Given the description of an element on the screen output the (x, y) to click on. 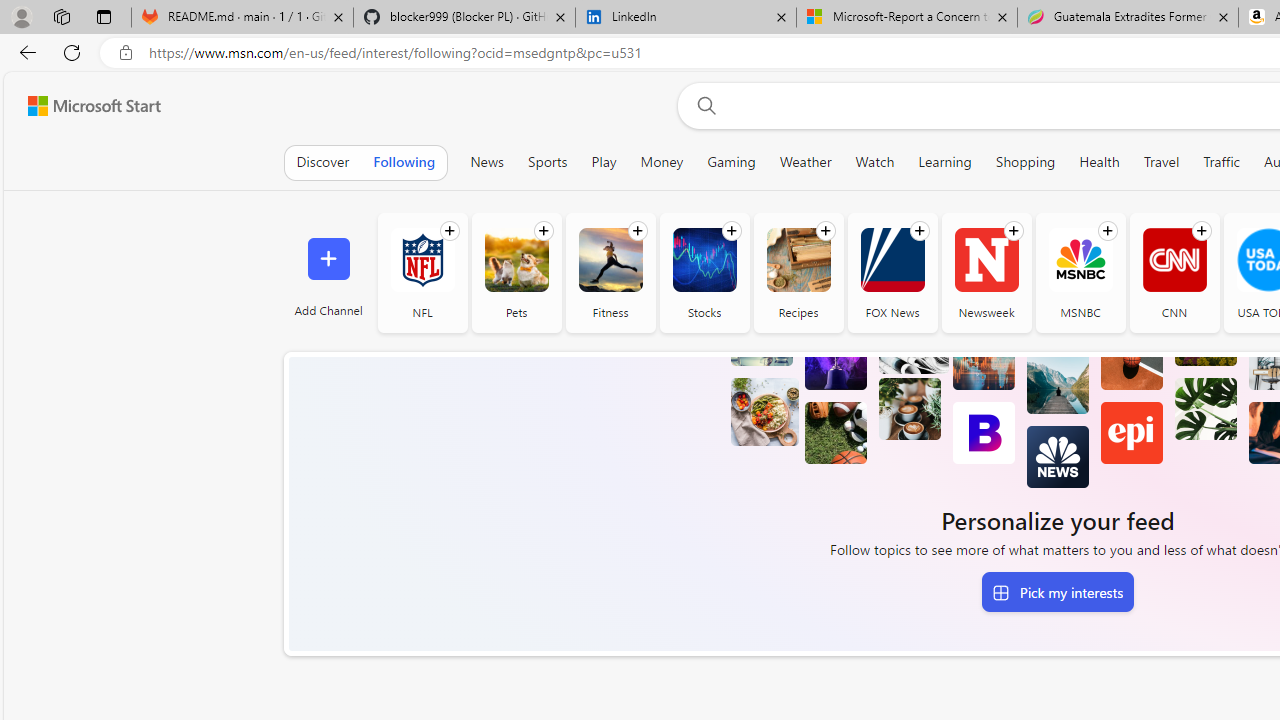
Pick my interests (1057, 591)
Recipes (797, 272)
Newsweek (985, 272)
NFL (422, 260)
Learning (945, 161)
MSNBC (1080, 260)
FOX News (892, 272)
Learning (945, 162)
Recipes (797, 260)
Pets (516, 260)
